Given the description of an element on the screen output the (x, y) to click on. 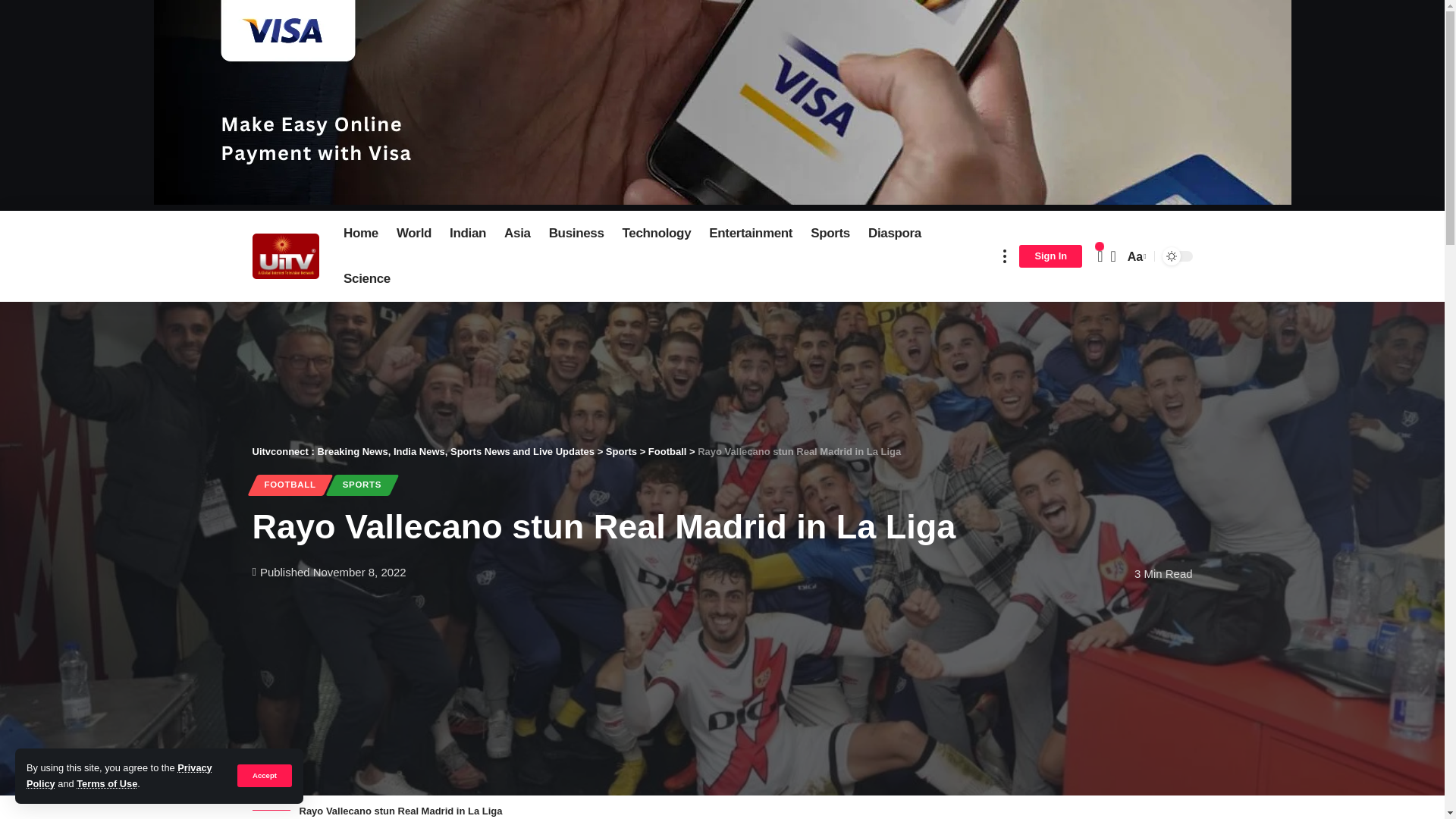
Indian (468, 233)
Go to the Football Category archives. (667, 451)
Go to the Sports Category archives. (621, 451)
Business (576, 233)
Privacy Policy (119, 775)
Home (360, 233)
World (414, 233)
Science (366, 279)
Accept (264, 775)
Entertainment (751, 233)
